Given the description of an element on the screen output the (x, y) to click on. 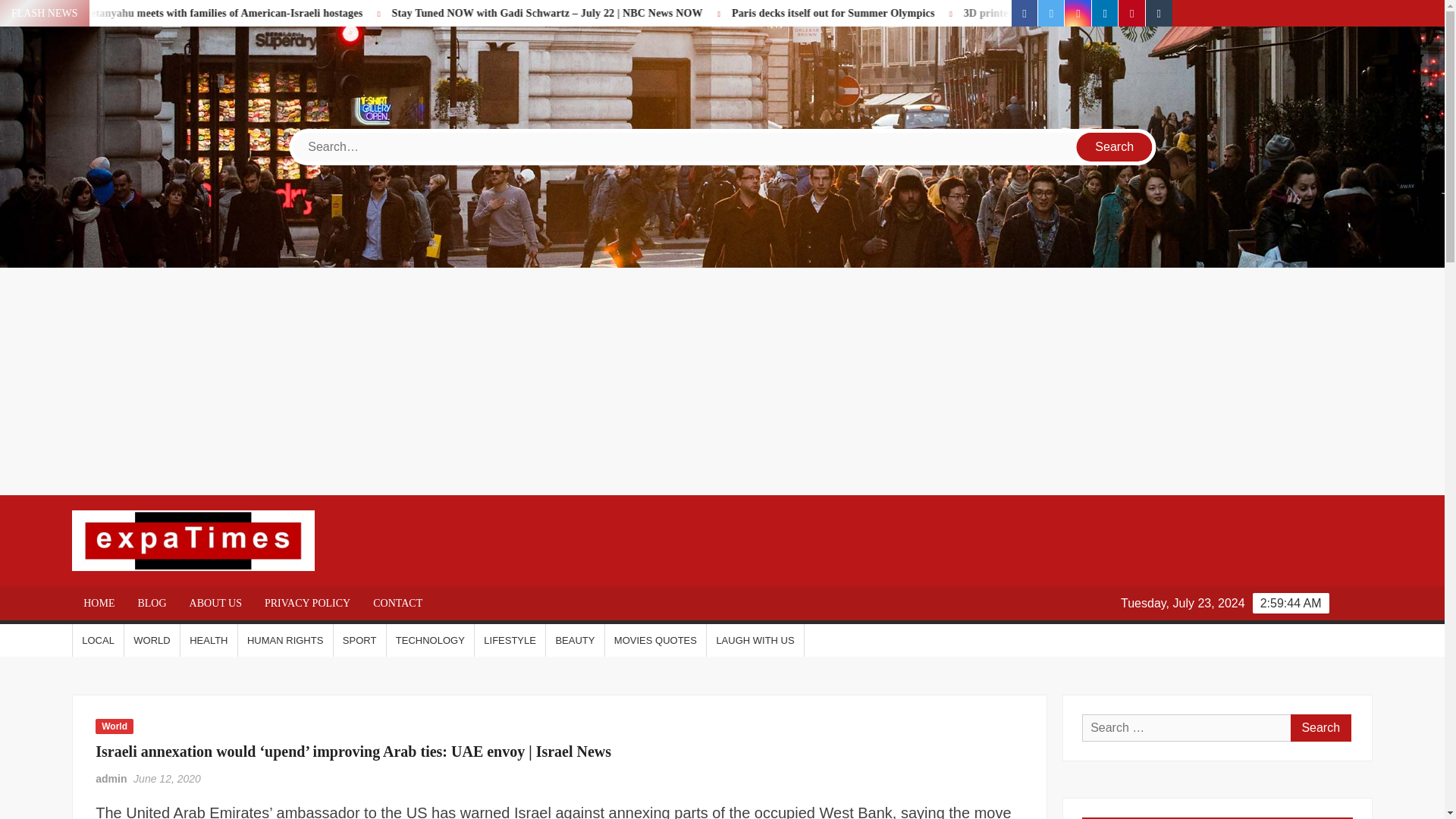
Search (1320, 728)
Springfield residents rally to support Sonya Massey's family (119, 12)
Paris decks itself out for Summer Olympics (1012, 12)
Netanyahu meets with families of American-Israeli hostages (355, 12)
Springfield residents rally to support Sonya Massey's family (95, 12)
Search (1115, 146)
Search (1115, 146)
Netanyahu meets with families of American-Israeli hostages (404, 12)
Paris decks itself out for Summer Olympics (960, 12)
Search (1320, 728)
